Given the description of an element on the screen output the (x, y) to click on. 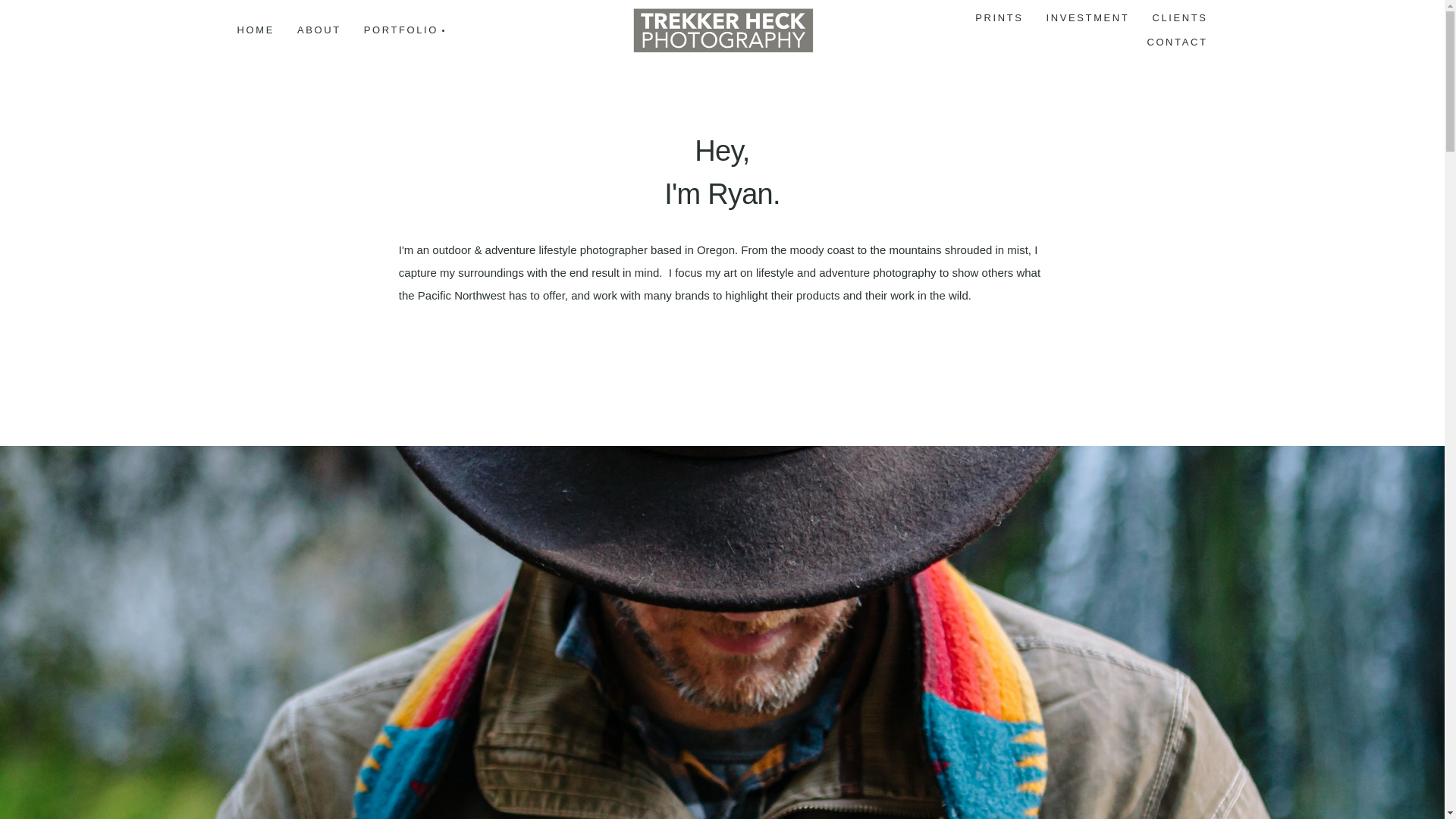
ABOUT (318, 30)
CONTACT (1176, 42)
HOME (255, 30)
PORTFOLIO (403, 30)
INVESTMENT (1088, 17)
PRINTS (998, 17)
CLIENTS (1179, 17)
